Given the description of an element on the screen output the (x, y) to click on. 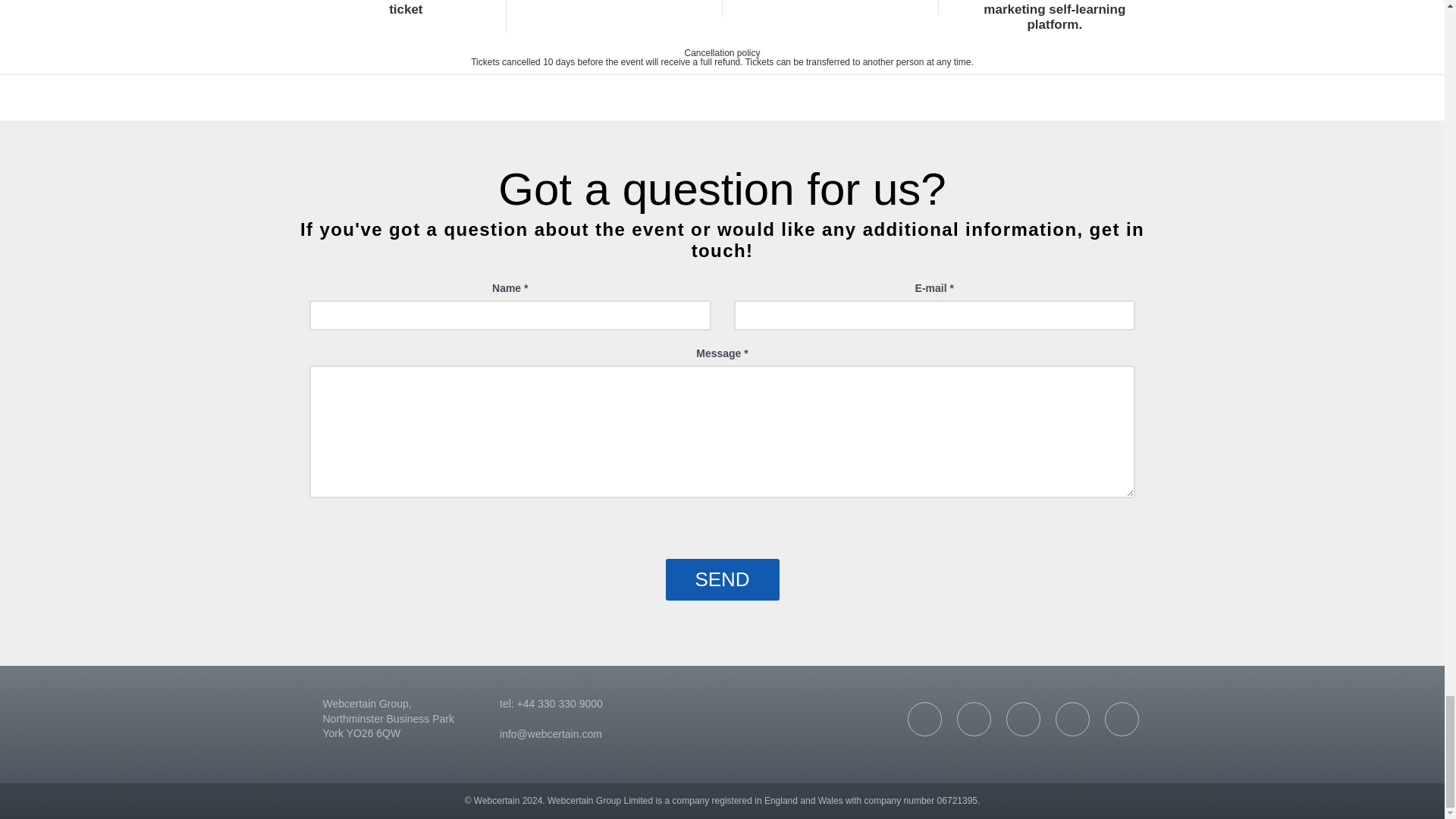
SEND (721, 579)
